Given the description of an element on the screen output the (x, y) to click on. 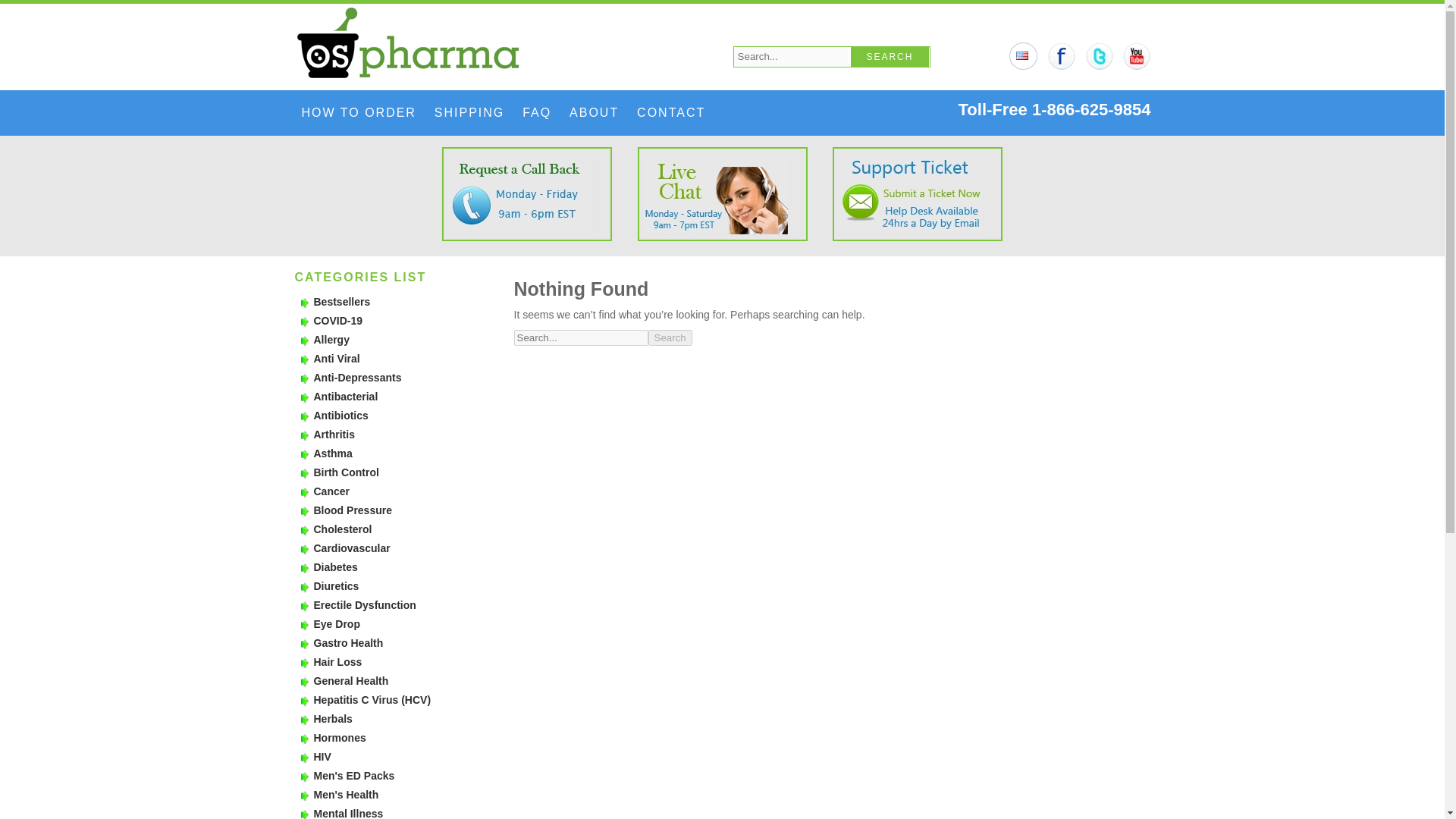
Cholesterol (343, 529)
COVID-19 (338, 320)
CONTACT (670, 112)
SHIPPING (469, 112)
Search (669, 337)
Birth Control (346, 472)
Search (890, 56)
Cancer (331, 491)
ABOUT (594, 112)
Bestsellers (342, 301)
Arthritis (334, 434)
FAQ (537, 112)
Blood Pressure (352, 510)
OS Pharma (429, 42)
HOW TO ORDER (358, 112)
